Given the description of an element on the screen output the (x, y) to click on. 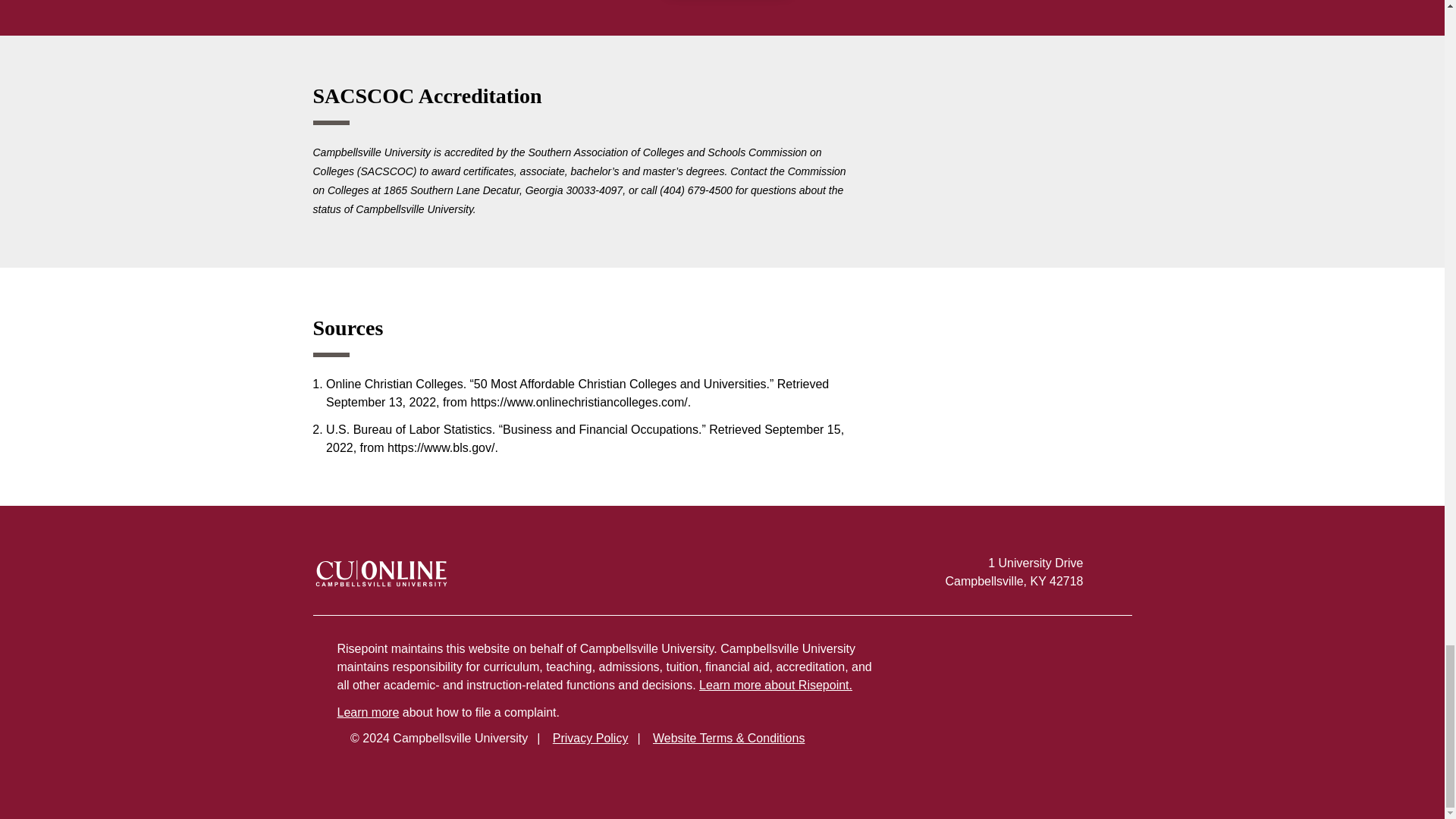
Learn more (367, 712)
Learn more about Risepoint. (774, 684)
